Given the description of an element on the screen output the (x, y) to click on. 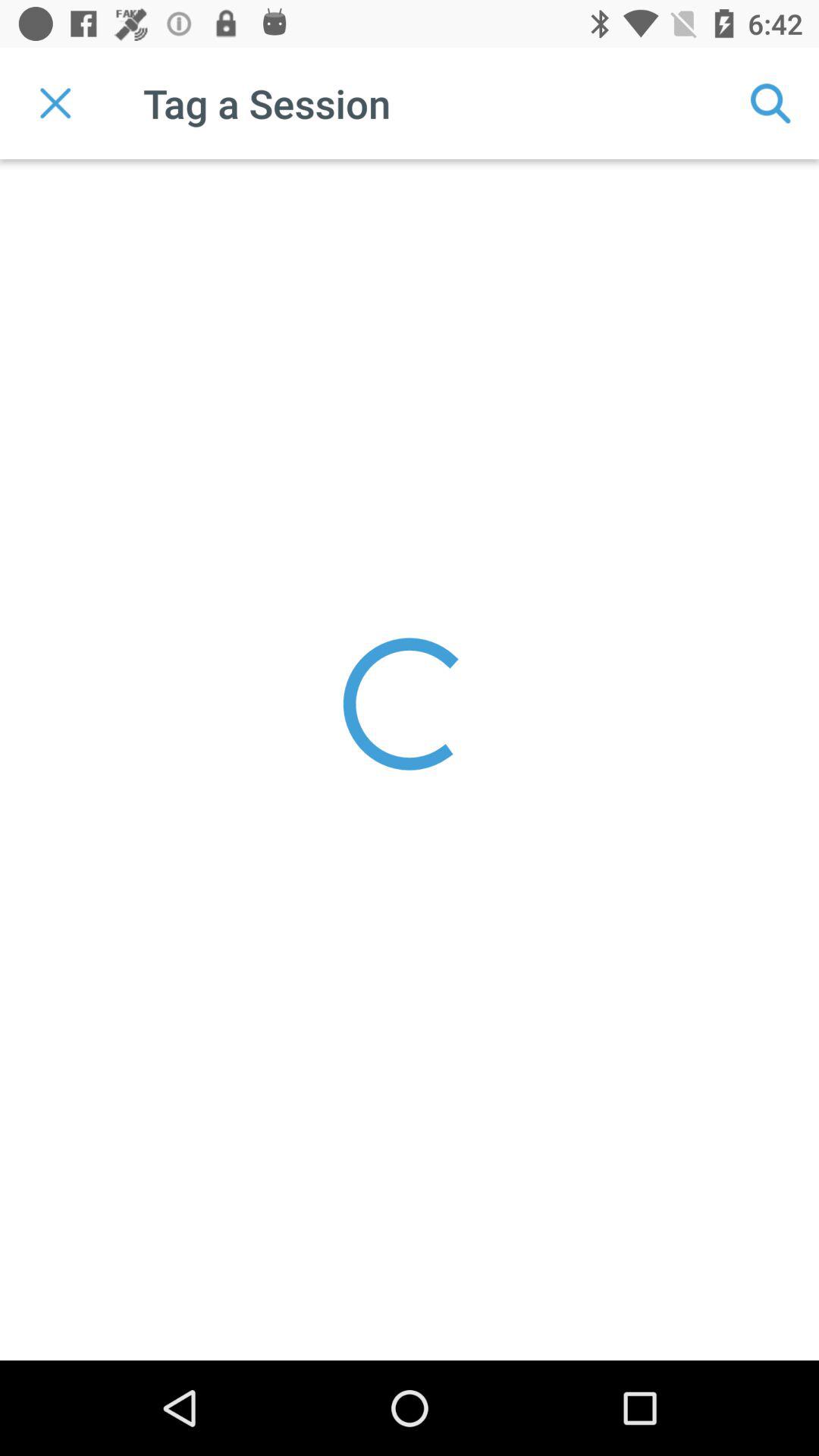
click the item at the top right corner (771, 103)
